Given the description of an element on the screen output the (x, y) to click on. 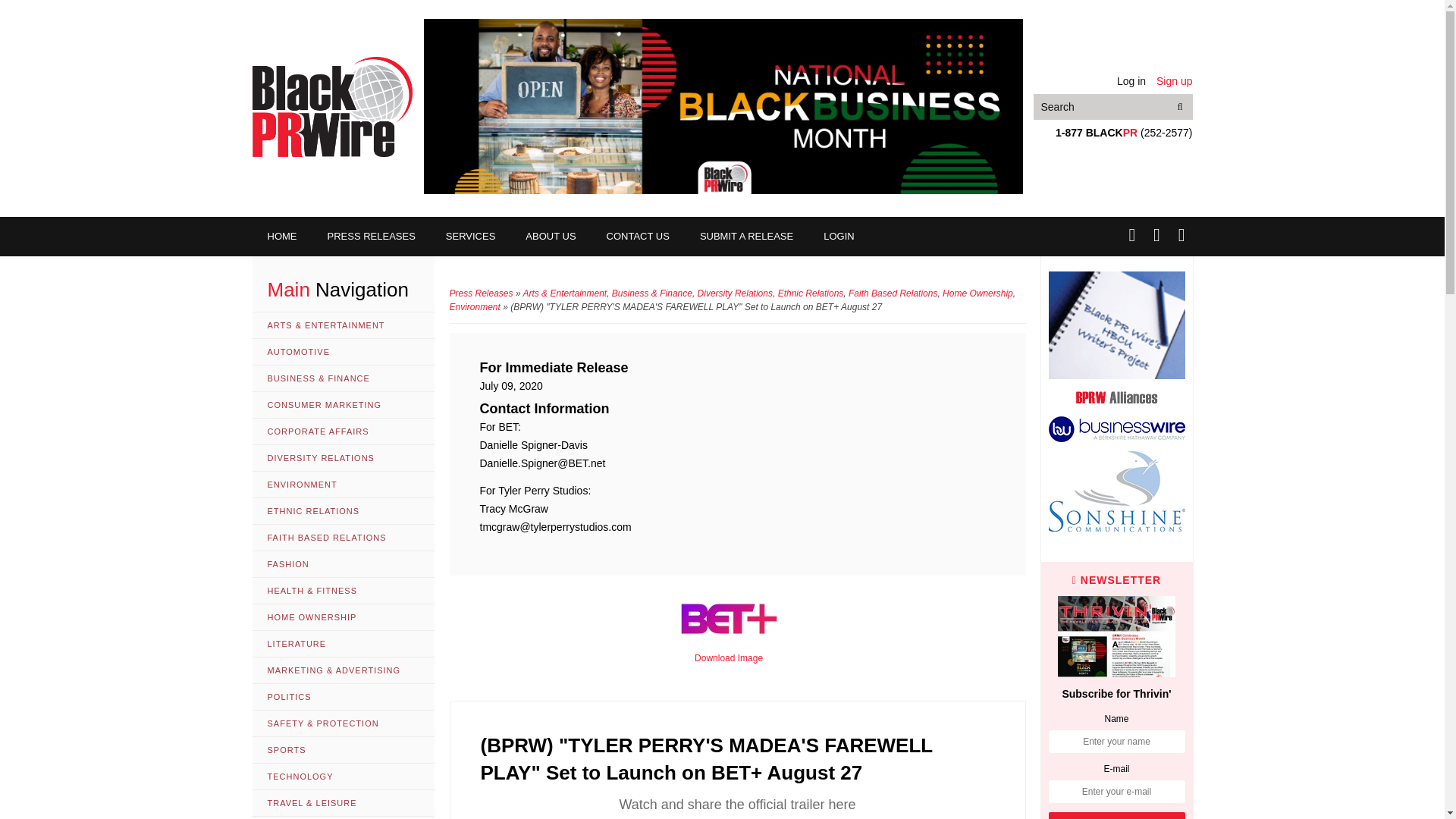
AUTOMOTIVE (342, 352)
ETHNIC RELATIONS (342, 510)
TECHNOLOGY (342, 776)
FASHION (342, 564)
Sign up (1174, 81)
ABOUT US (551, 236)
SPORTS (342, 750)
SUBMIT A RELEASE (746, 236)
DIVERSITY RELATIONS (342, 458)
FAITH BASED RELATIONS (342, 537)
